Given the description of an element on the screen output the (x, y) to click on. 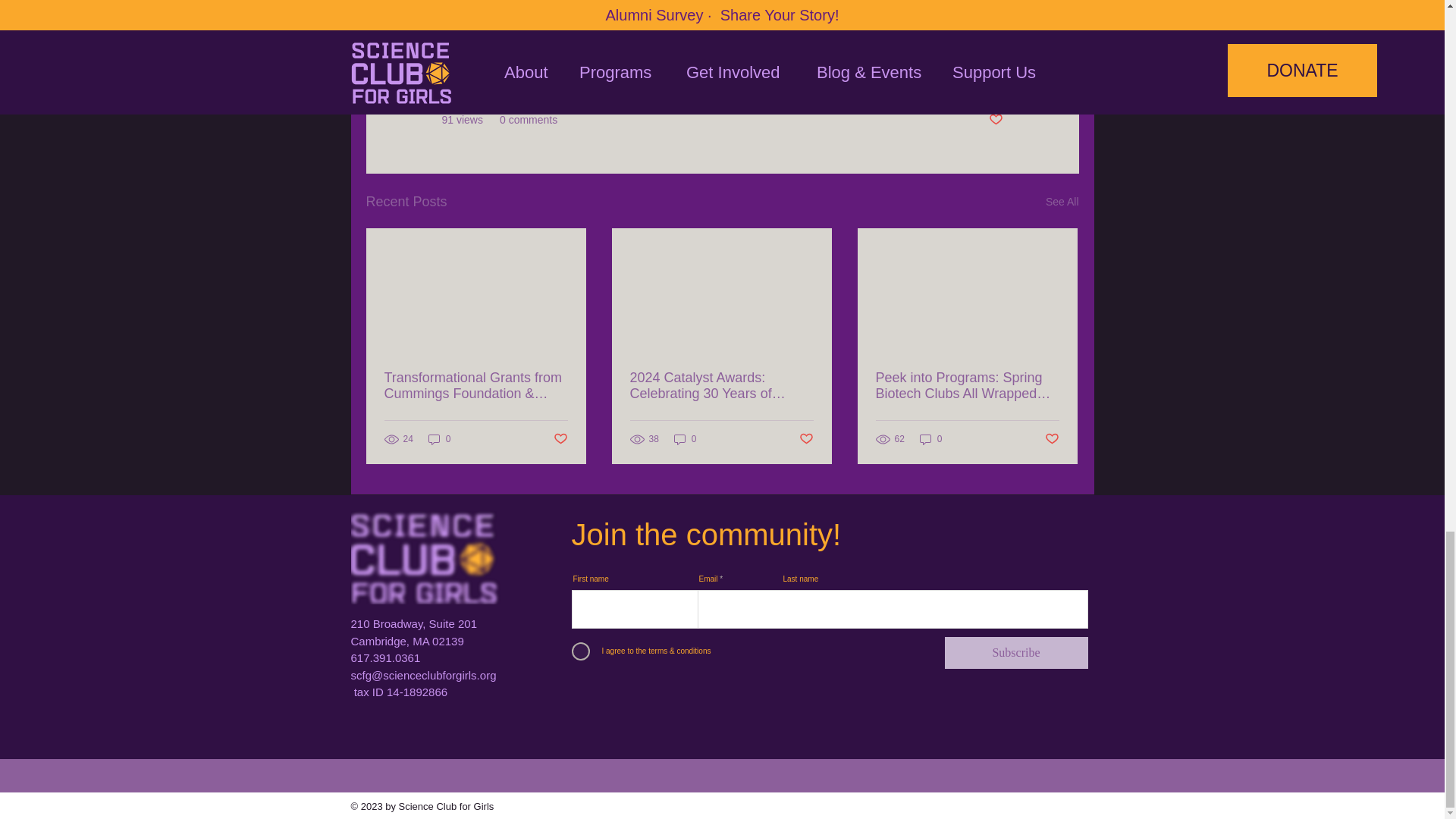
Read our full July 2020 newsletter here! (561, 5)
See All (1061, 201)
Post not marked as liked (995, 119)
